Given the description of an element on the screen output the (x, y) to click on. 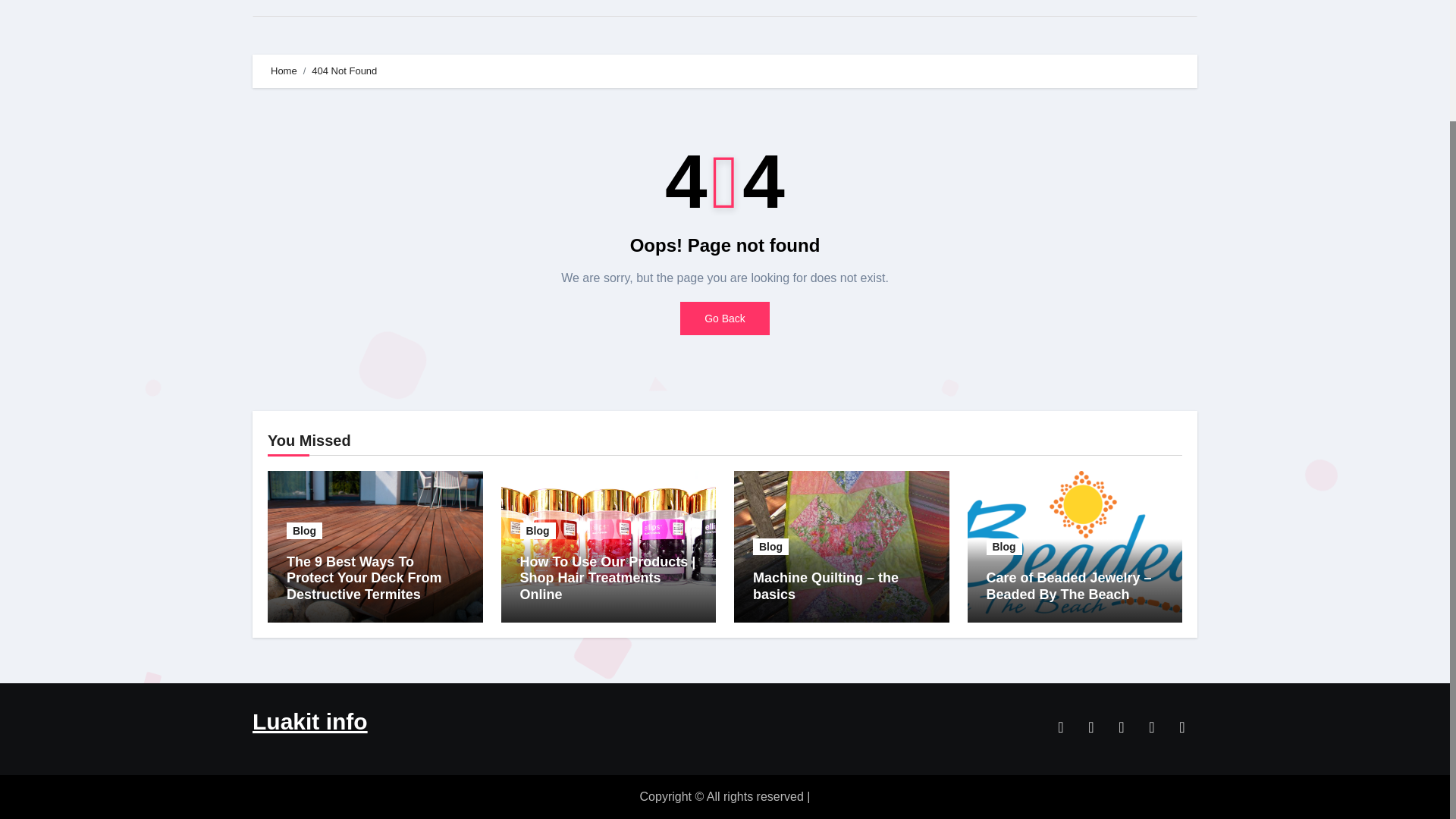
Home (283, 70)
Blog (303, 530)
Luakit info (309, 721)
Home (282, 7)
Blog (770, 546)
Blog (1003, 546)
Home (282, 7)
Go Back (724, 318)
Blog (537, 530)
